Given the description of an element on the screen output the (x, y) to click on. 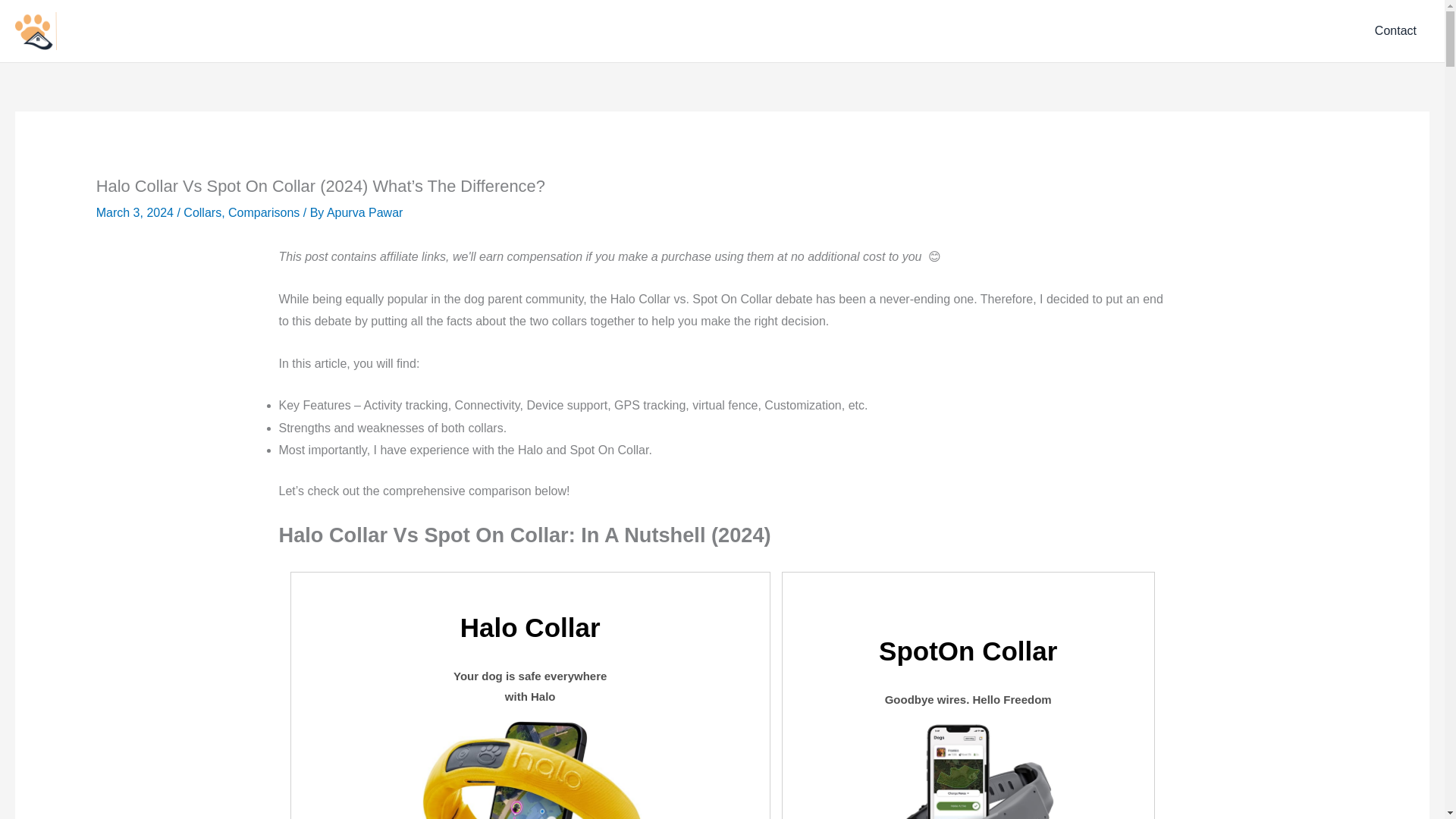
View all posts by Apurva Pawar (364, 212)
About Us (1309, 30)
Home (1096, 30)
Contact (1395, 30)
Apurva Pawar (364, 212)
Collars (202, 212)
Comparisons (263, 212)
Dog Statistics (1222, 30)
